Given the description of an element on the screen output the (x, y) to click on. 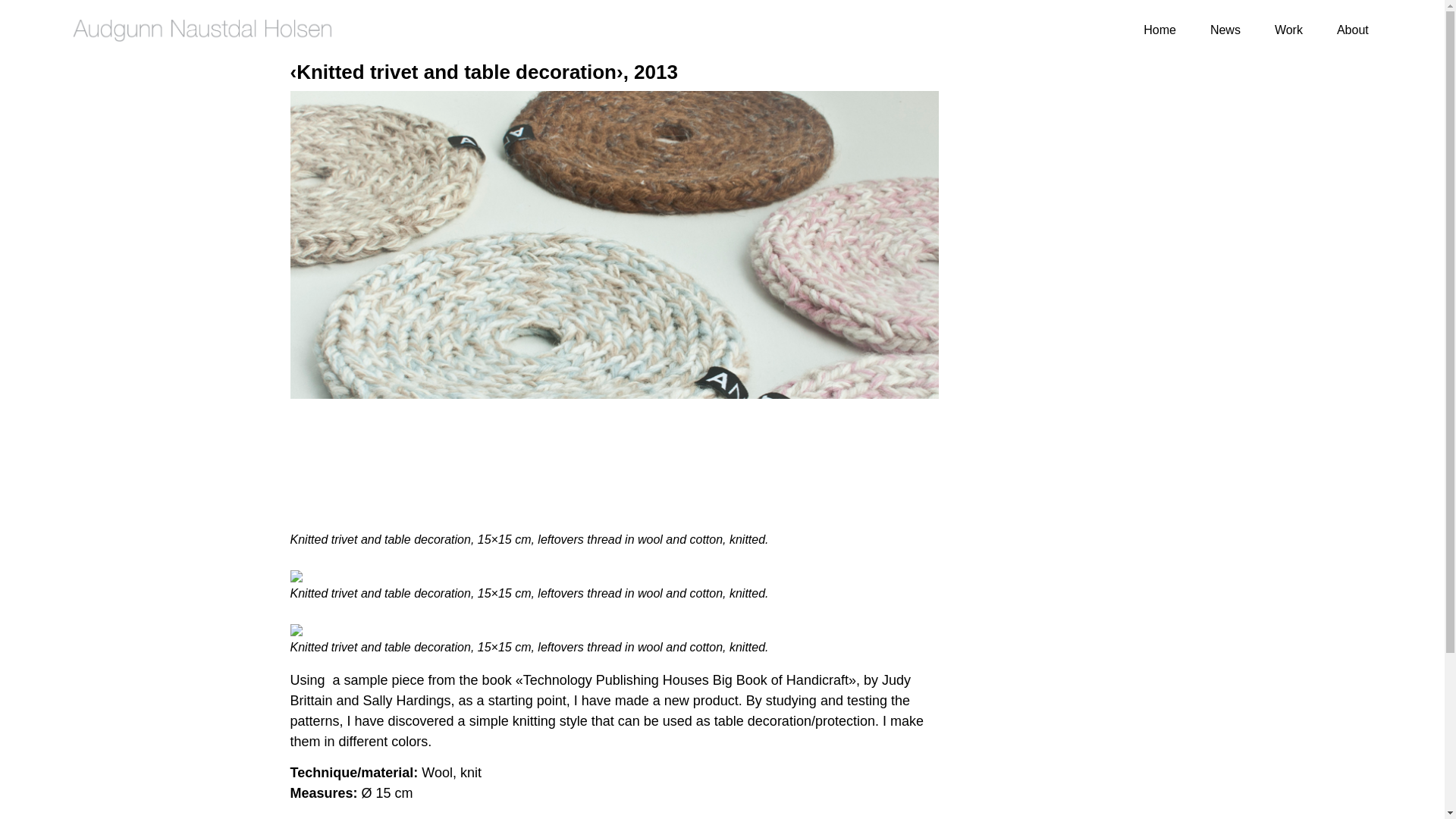
Work (1288, 30)
News (1225, 30)
About (1353, 30)
Home (1159, 30)
BORDFORMER (295, 576)
